Given the description of an element on the screen output the (x, y) to click on. 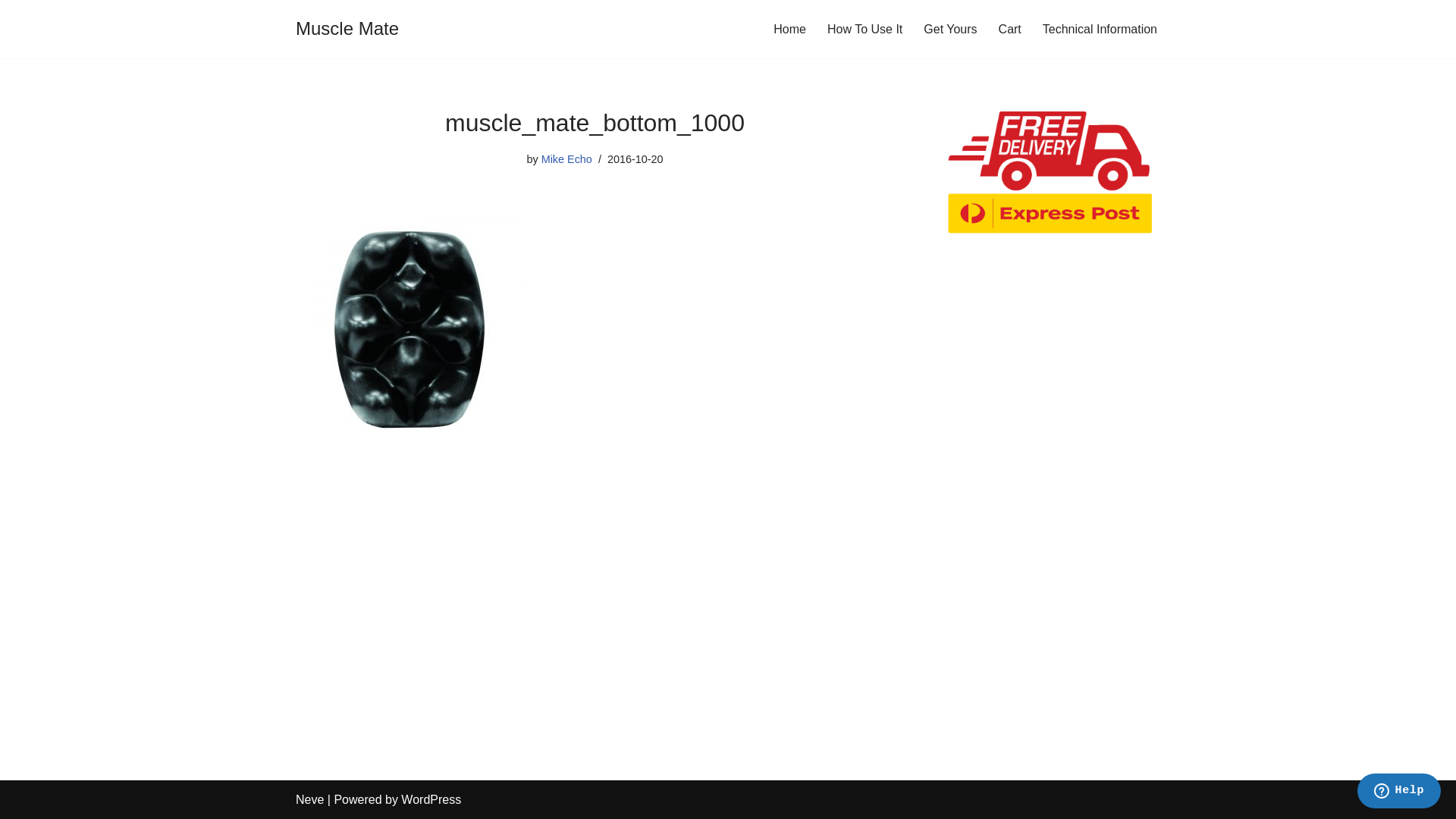
Neve Element type: text (309, 799)
How To Use It Element type: text (864, 28)
Cart Element type: text (1009, 28)
Get Yours Element type: text (949, 28)
Mike Echo Element type: text (566, 159)
WordPress Element type: text (431, 799)
Opens a widget where you can chat to one of our agents Element type: hover (1398, 792)
Skip to content Element type: text (11, 31)
Muscle Mate Element type: text (346, 28)
Home Element type: text (789, 28)
Technical Information Element type: text (1099, 28)
